Given the description of an element on the screen output the (x, y) to click on. 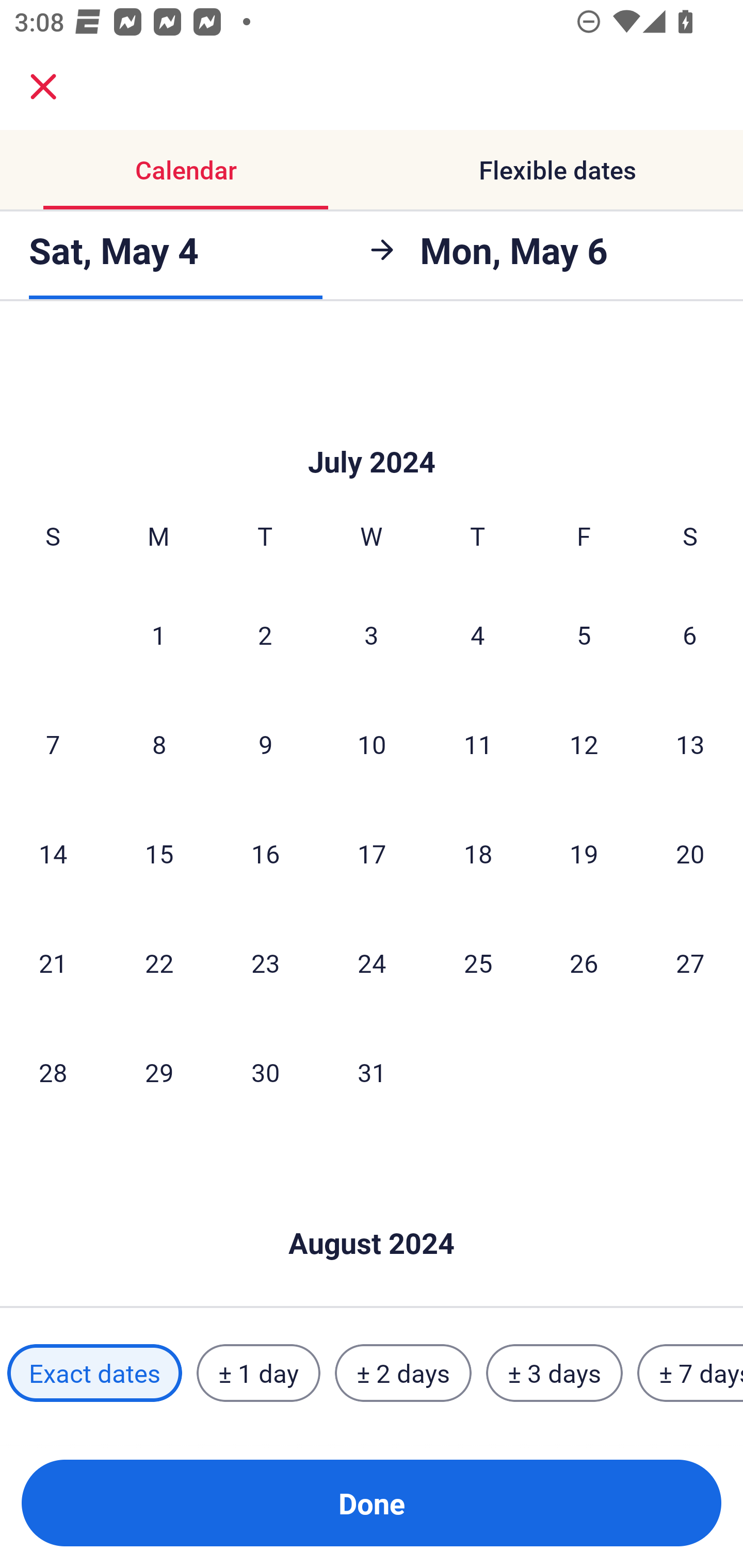
close. (43, 86)
Flexible dates (557, 170)
Skip to Done (371, 431)
1 Monday, July 1, 2024 (158, 633)
2 Tuesday, July 2, 2024 (264, 633)
3 Wednesday, July 3, 2024 (371, 633)
4 Thursday, July 4, 2024 (477, 633)
5 Friday, July 5, 2024 (583, 633)
6 Saturday, July 6, 2024 (689, 633)
7 Sunday, July 7, 2024 (53, 743)
8 Monday, July 8, 2024 (159, 743)
9 Tuesday, July 9, 2024 (265, 743)
10 Wednesday, July 10, 2024 (371, 743)
11 Thursday, July 11, 2024 (477, 743)
12 Friday, July 12, 2024 (584, 743)
13 Saturday, July 13, 2024 (690, 743)
14 Sunday, July 14, 2024 (53, 853)
15 Monday, July 15, 2024 (159, 853)
16 Tuesday, July 16, 2024 (265, 853)
17 Wednesday, July 17, 2024 (371, 853)
18 Thursday, July 18, 2024 (477, 853)
19 Friday, July 19, 2024 (584, 853)
20 Saturday, July 20, 2024 (690, 853)
21 Sunday, July 21, 2024 (53, 962)
22 Monday, July 22, 2024 (159, 962)
23 Tuesday, July 23, 2024 (265, 962)
24 Wednesday, July 24, 2024 (371, 962)
25 Thursday, July 25, 2024 (477, 962)
26 Friday, July 26, 2024 (584, 962)
27 Saturday, July 27, 2024 (690, 962)
28 Sunday, July 28, 2024 (53, 1071)
29 Monday, July 29, 2024 (159, 1071)
30 Tuesday, July 30, 2024 (265, 1071)
31 Wednesday, July 31, 2024 (371, 1071)
Skip to Done (371, 1212)
Exact dates (94, 1372)
± 1 day (258, 1372)
± 2 days (403, 1372)
± 3 days (553, 1372)
± 7 days (690, 1372)
Done (371, 1502)
